Given the description of an element on the screen output the (x, y) to click on. 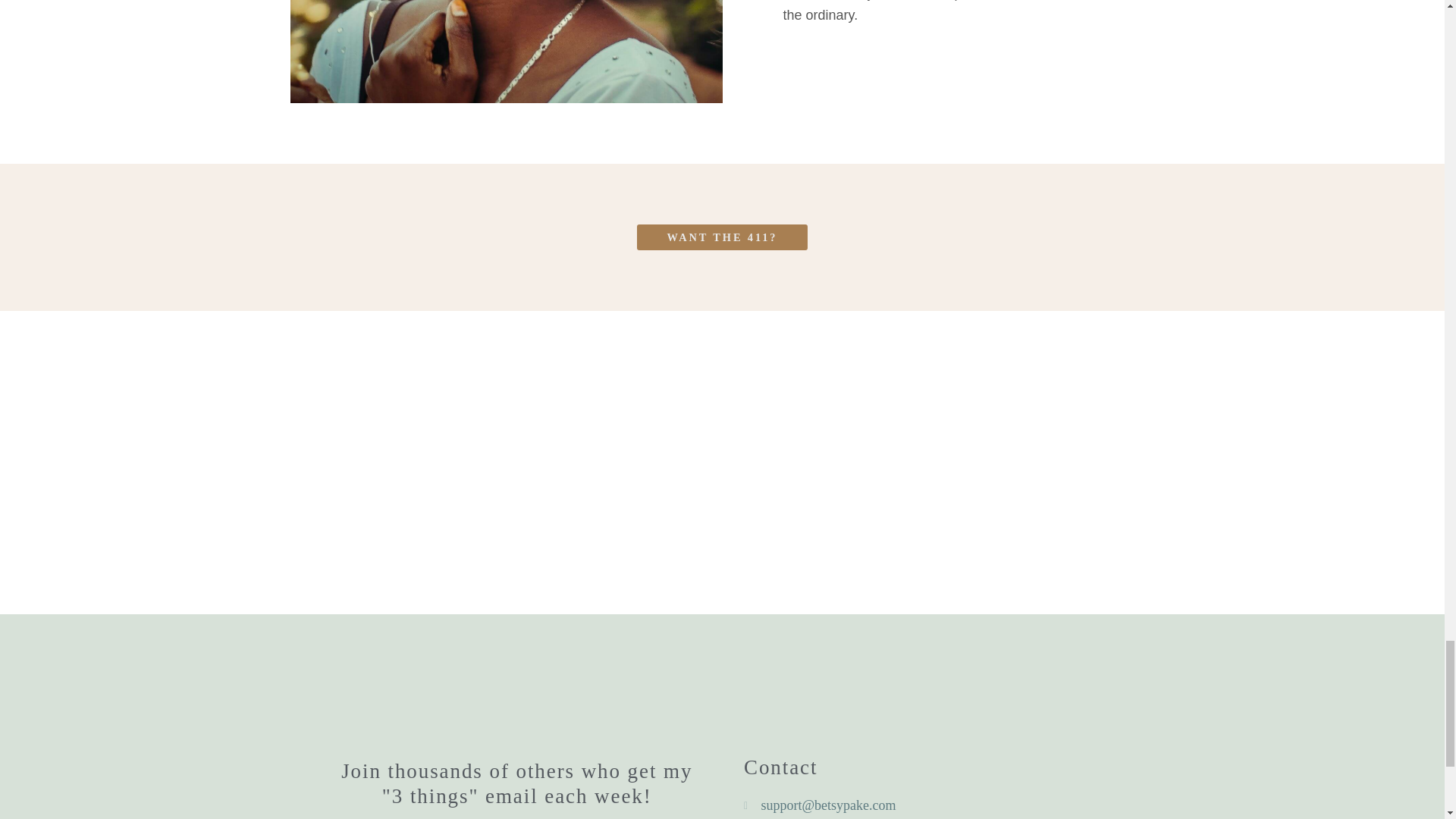
WANT THE 411? (722, 237)
